Given the description of an element on the screen output the (x, y) to click on. 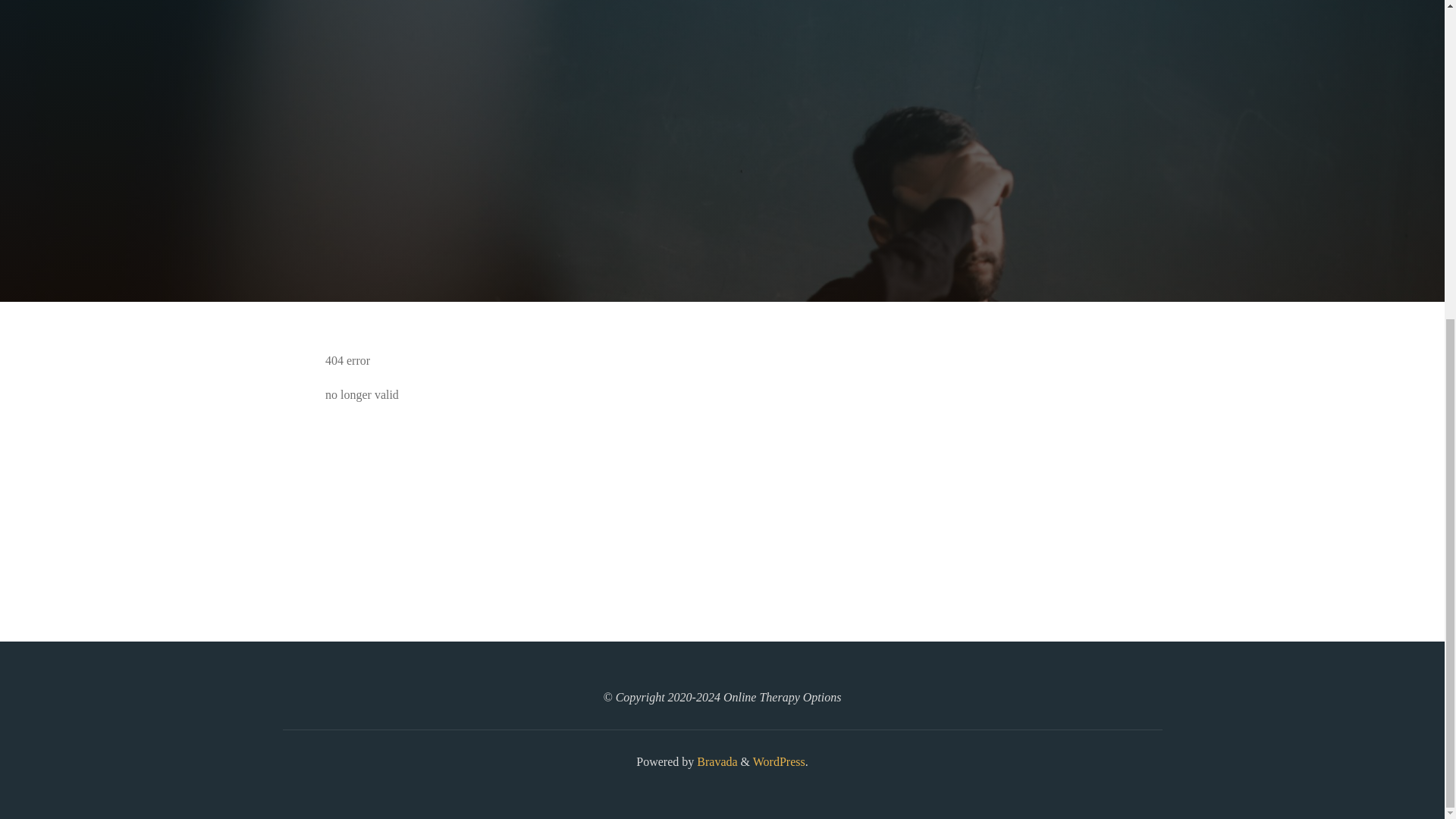
WordPress (778, 761)
Semantic Personal Publishing Platform (778, 761)
Bravada WordPress Theme by Cryout Creations (715, 761)
Read more (721, 207)
Bravada (715, 761)
